Given the description of an element on the screen output the (x, y) to click on. 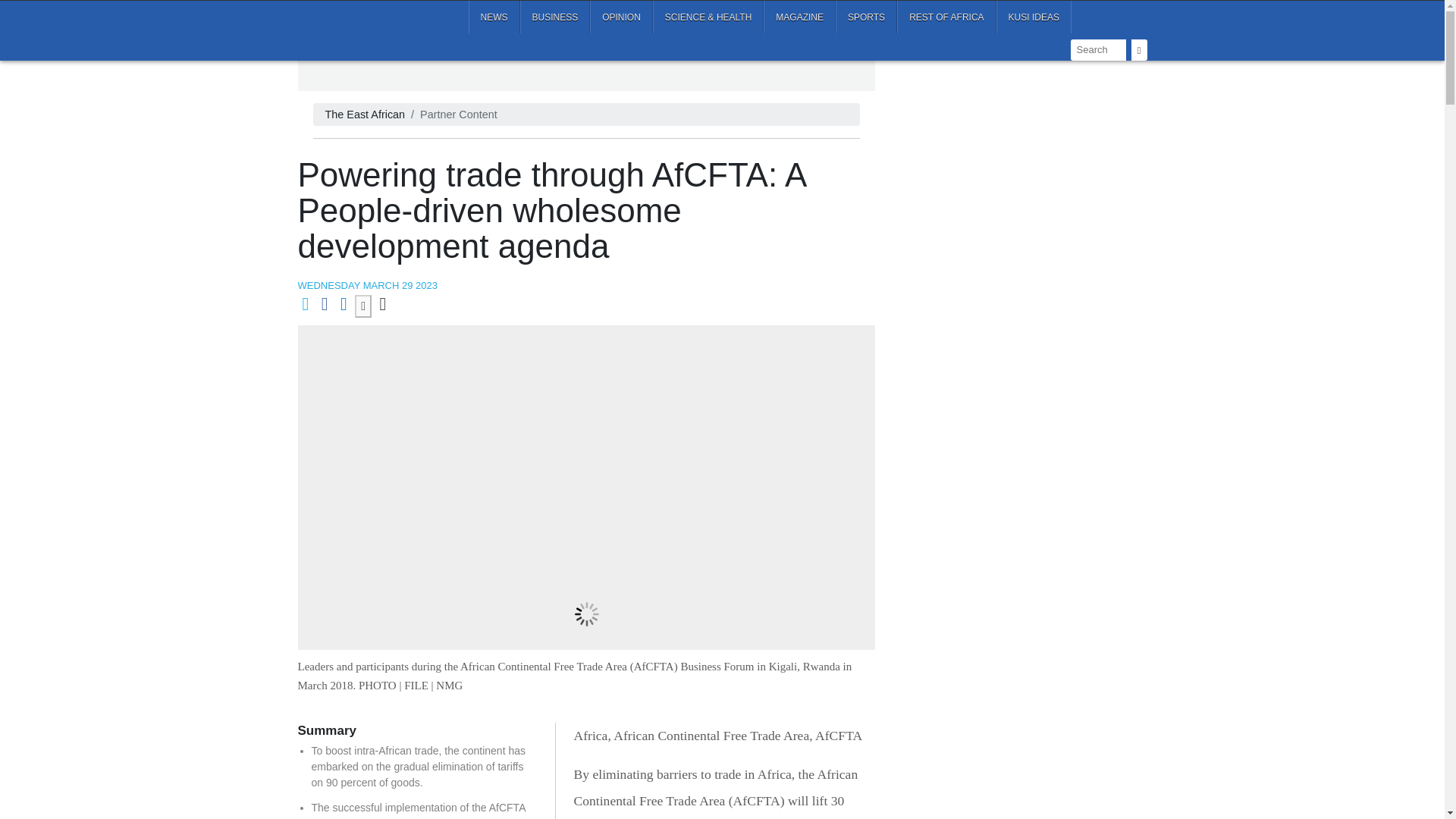
SPORTS (865, 16)
OPINION (620, 16)
NEWS (493, 16)
BUSINESS (555, 16)
MAGAZINE (798, 16)
